Given the description of an element on the screen output the (x, y) to click on. 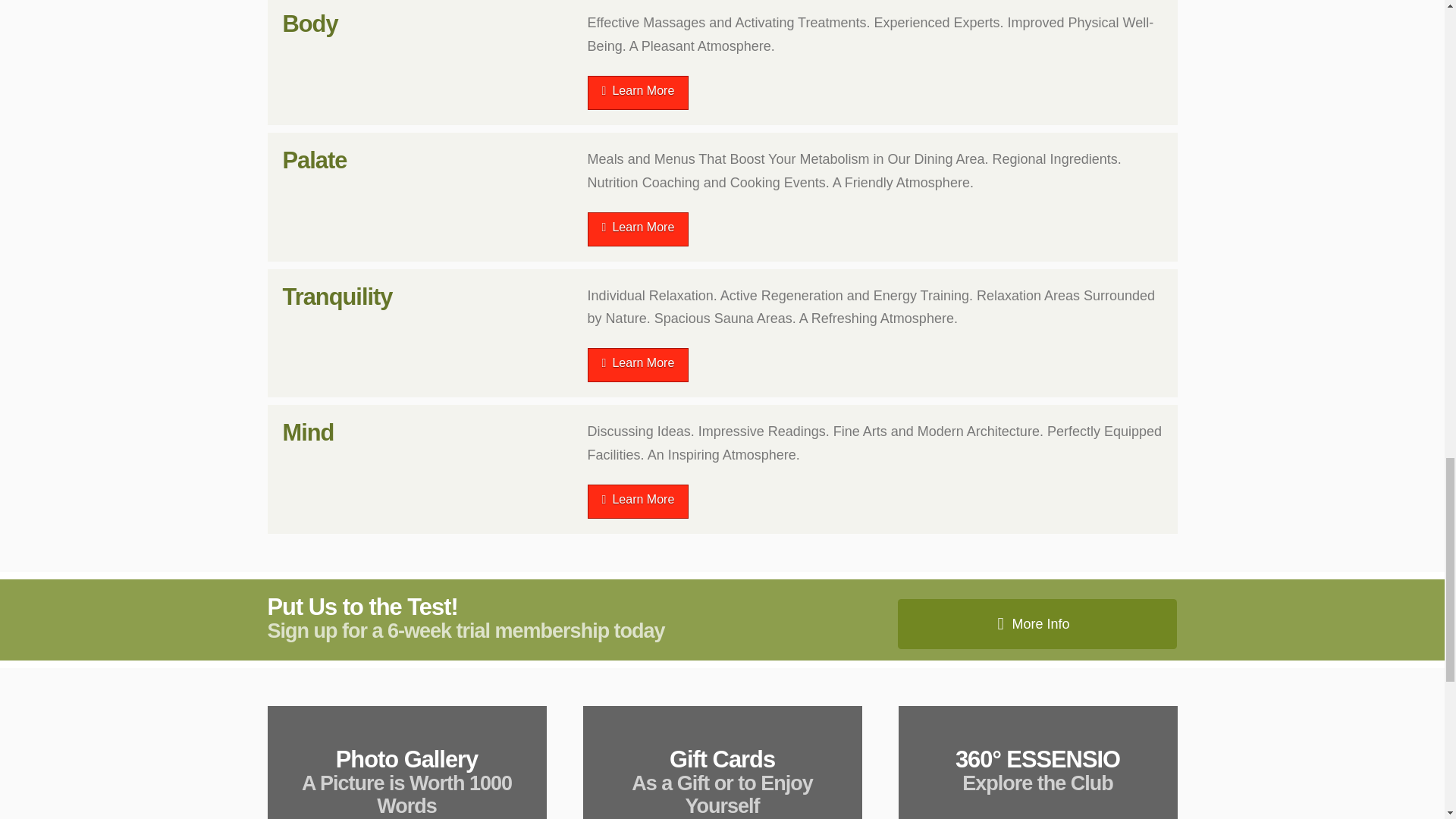
Learn More (638, 365)
Learn More (638, 92)
Learn More (638, 501)
Learn More (638, 229)
